Given the description of an element on the screen output the (x, y) to click on. 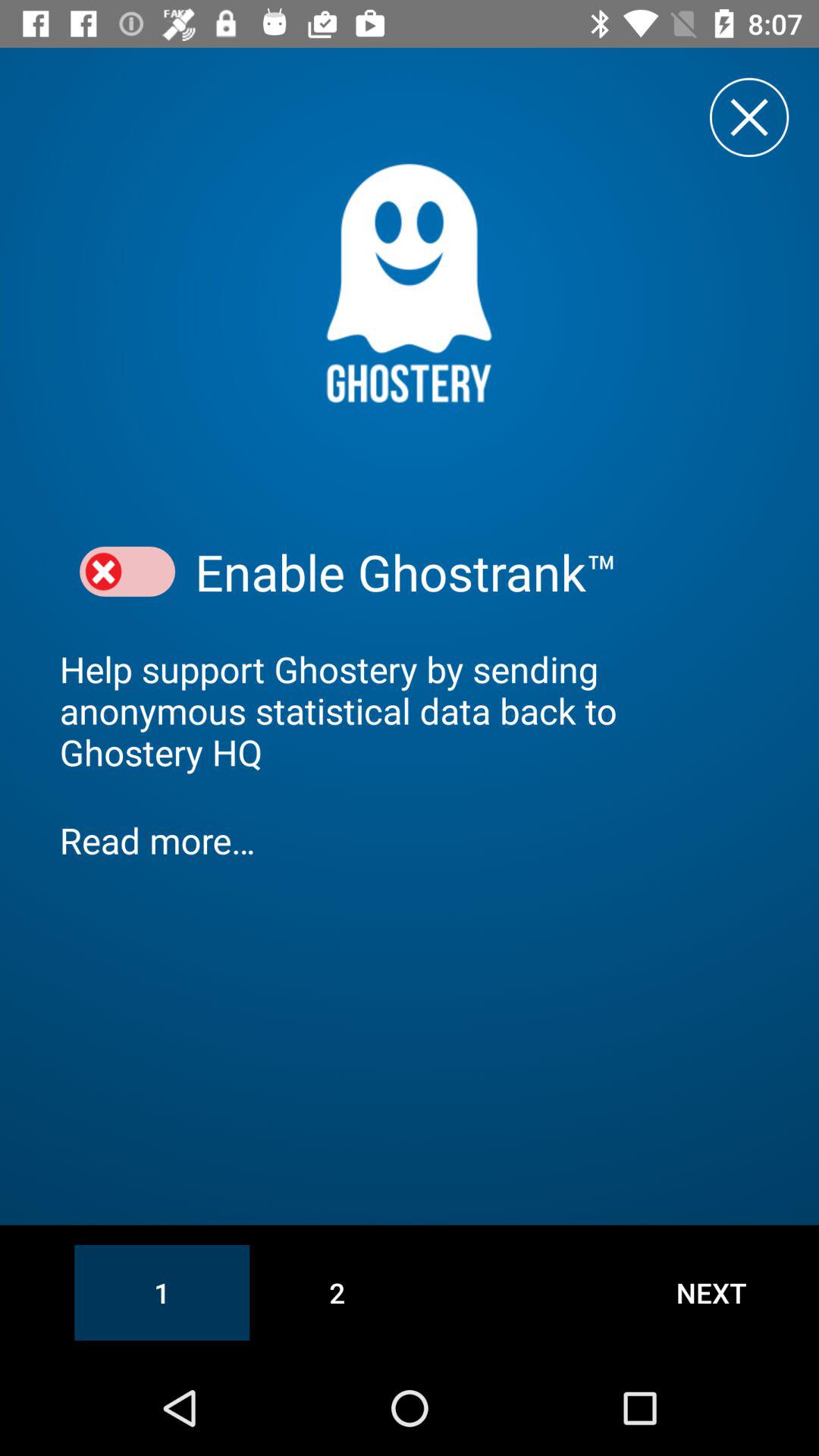
press item to the right of 1 item (336, 1292)
